Given the description of an element on the screen output the (x, y) to click on. 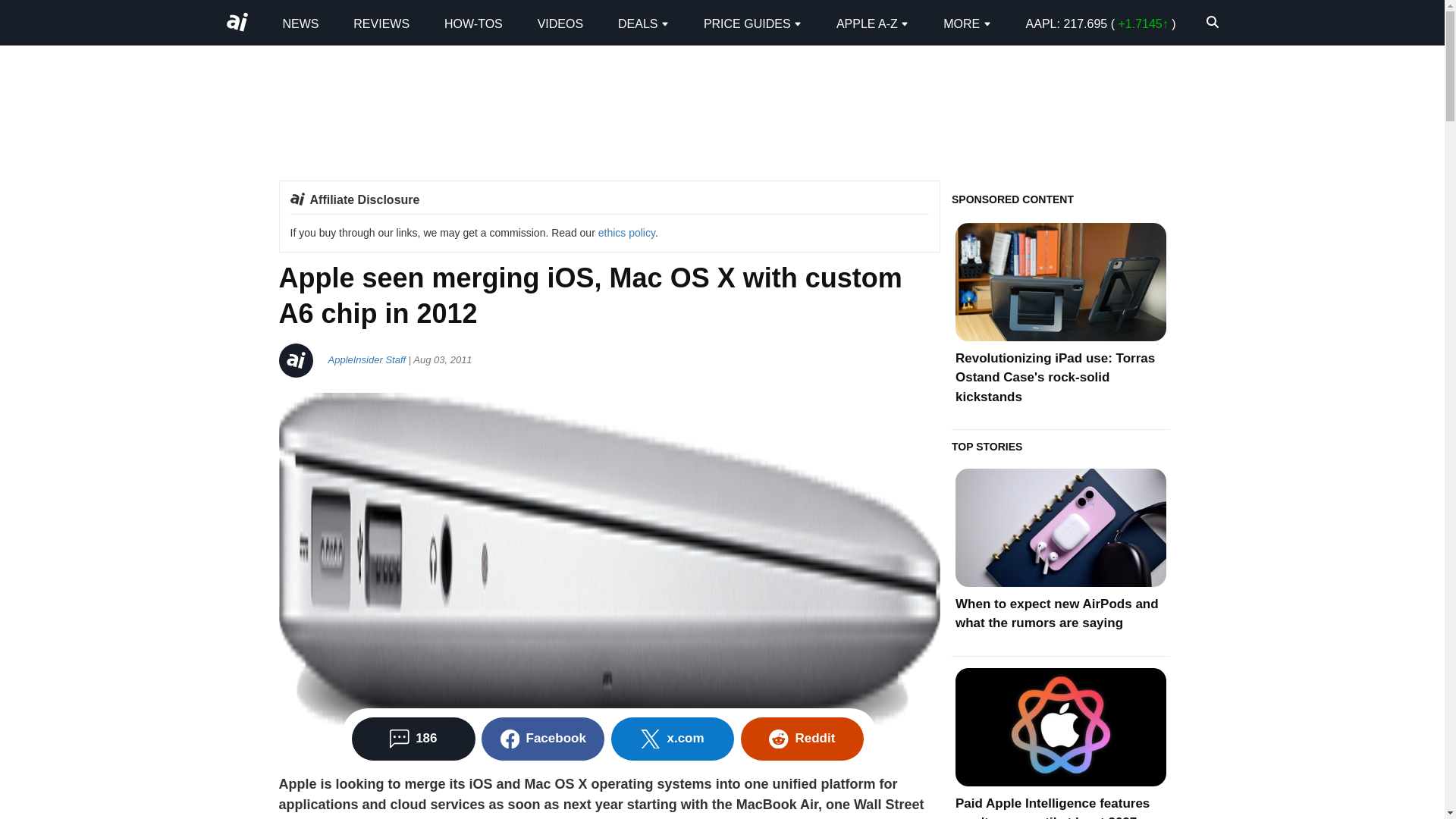
How-Tos (473, 23)
News (300, 23)
Reviews (381, 23)
Videos (560, 23)
NEWS (300, 23)
HOW-TOS (473, 23)
REVIEWS (381, 23)
VIDEOS (560, 23)
